Given the description of an element on the screen output the (x, y) to click on. 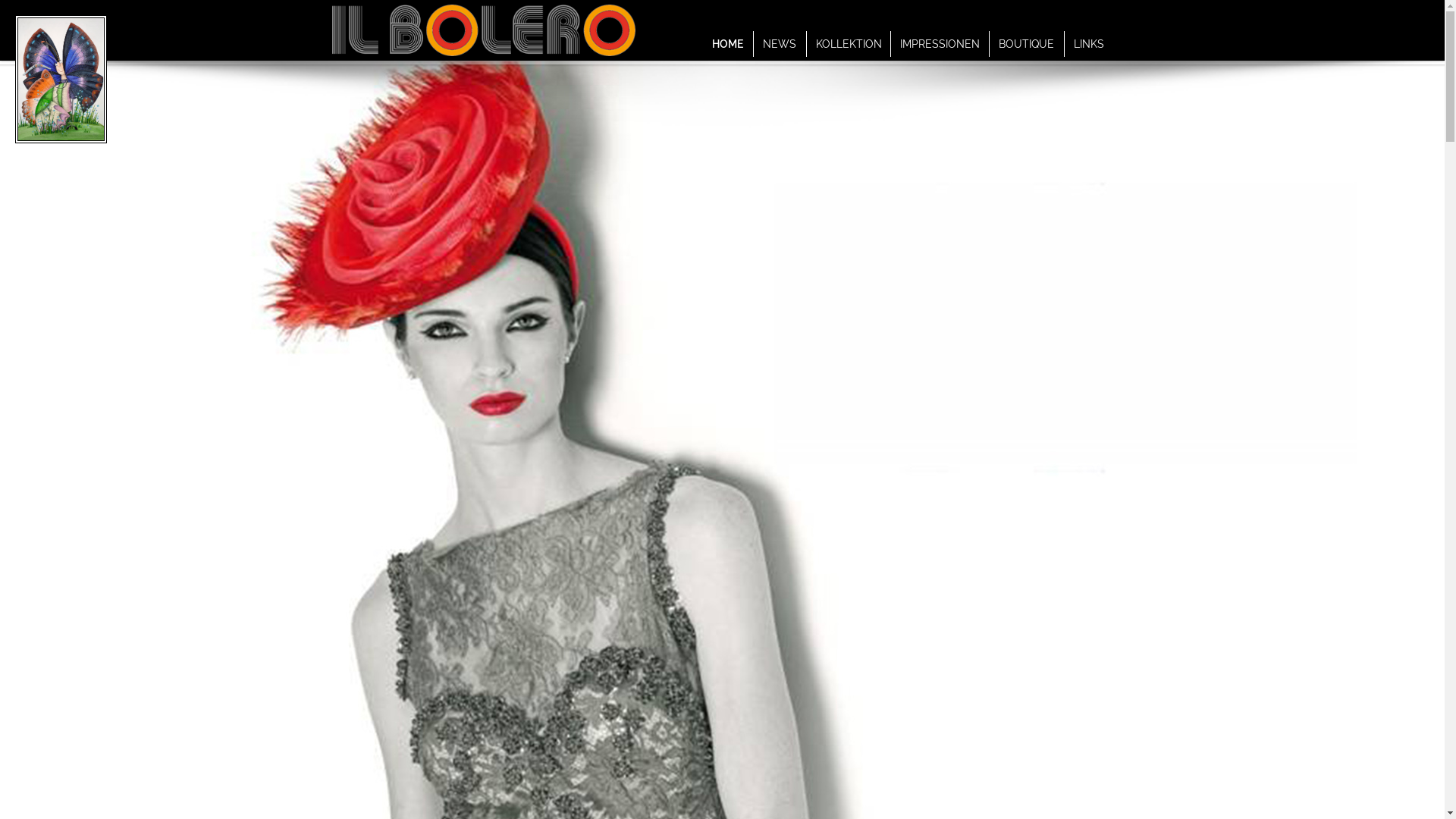
NEWS Element type: text (779, 43)
IMPRESSIONEN Element type: text (939, 43)
LINKS Element type: text (1088, 43)
KOLLEKTION Element type: text (848, 43)
BOUTIQUE Element type: text (1025, 43)
HOME Element type: text (727, 43)
